Given the description of an element on the screen output the (x, y) to click on. 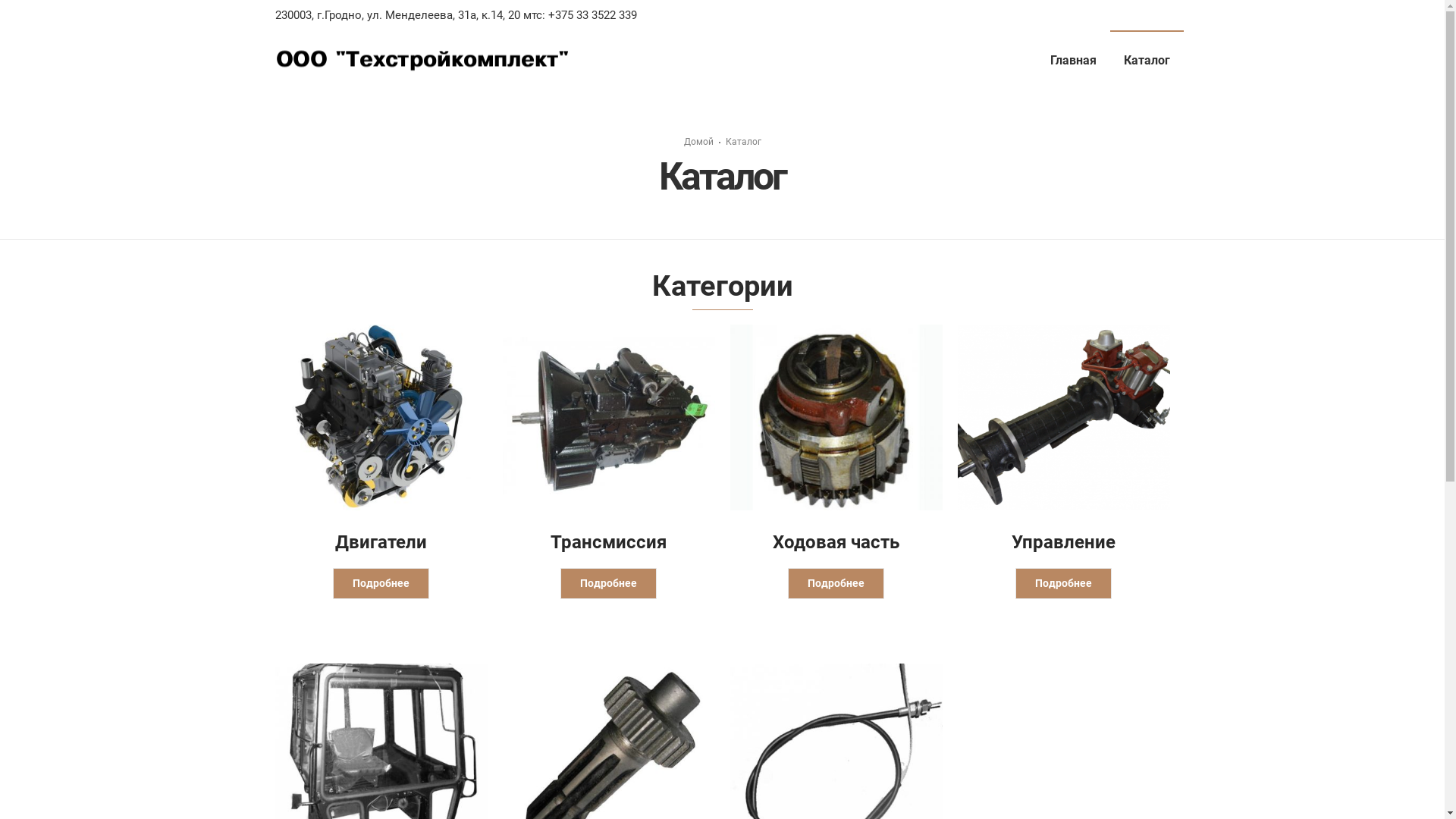
+375 33 3522 339 Element type: text (590, 14)
